Given the description of an element on the screen output the (x, y) to click on. 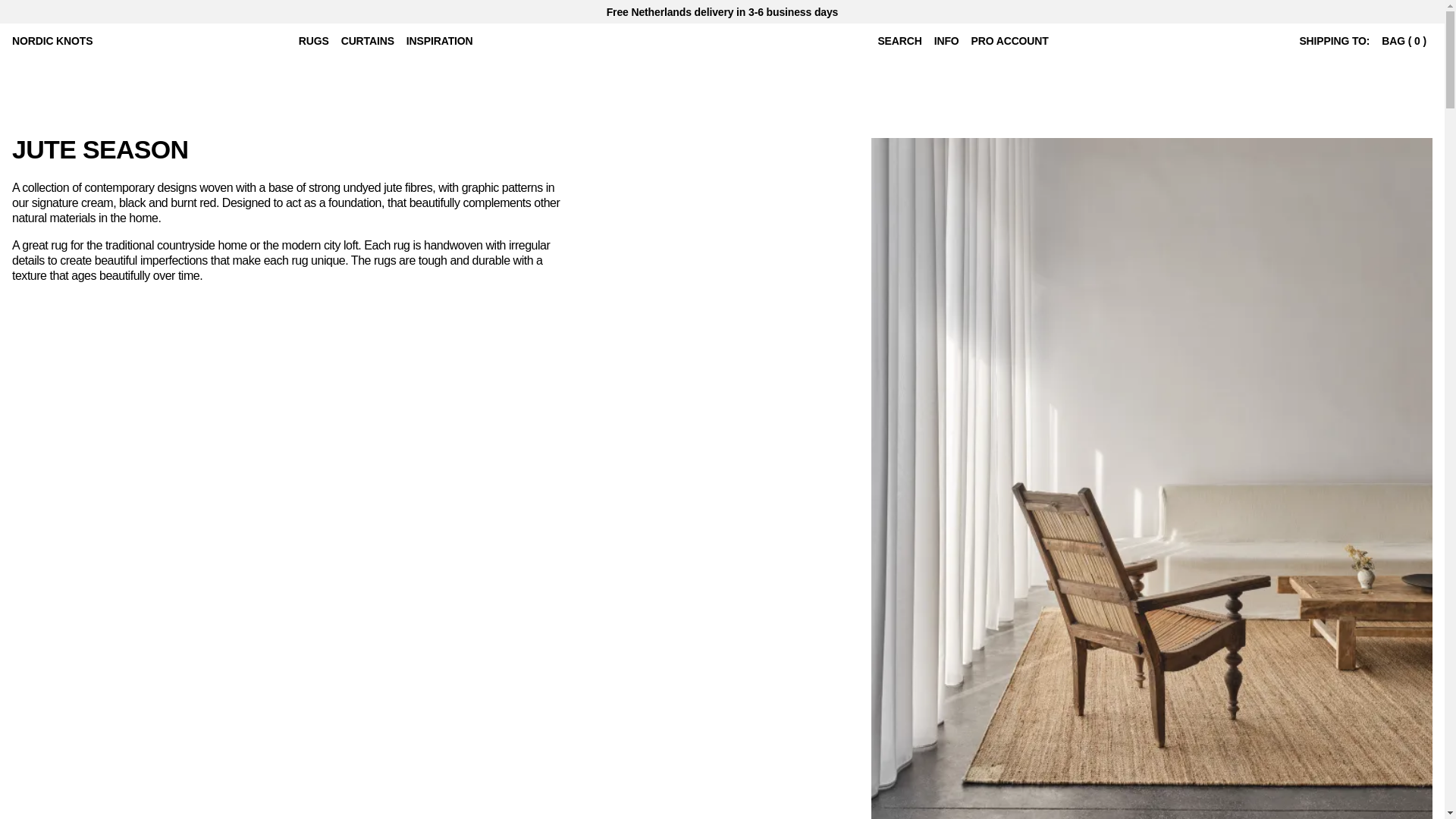
SHIPPING TO: (1334, 40)
CURTAINS (367, 40)
INFO (946, 40)
RUGS (313, 40)
NORDIC KNOTS (52, 40)
SEARCH (899, 40)
PRO ACCOUNT (1009, 40)
INSPIRATION (439, 40)
